Given the description of an element on the screen output the (x, y) to click on. 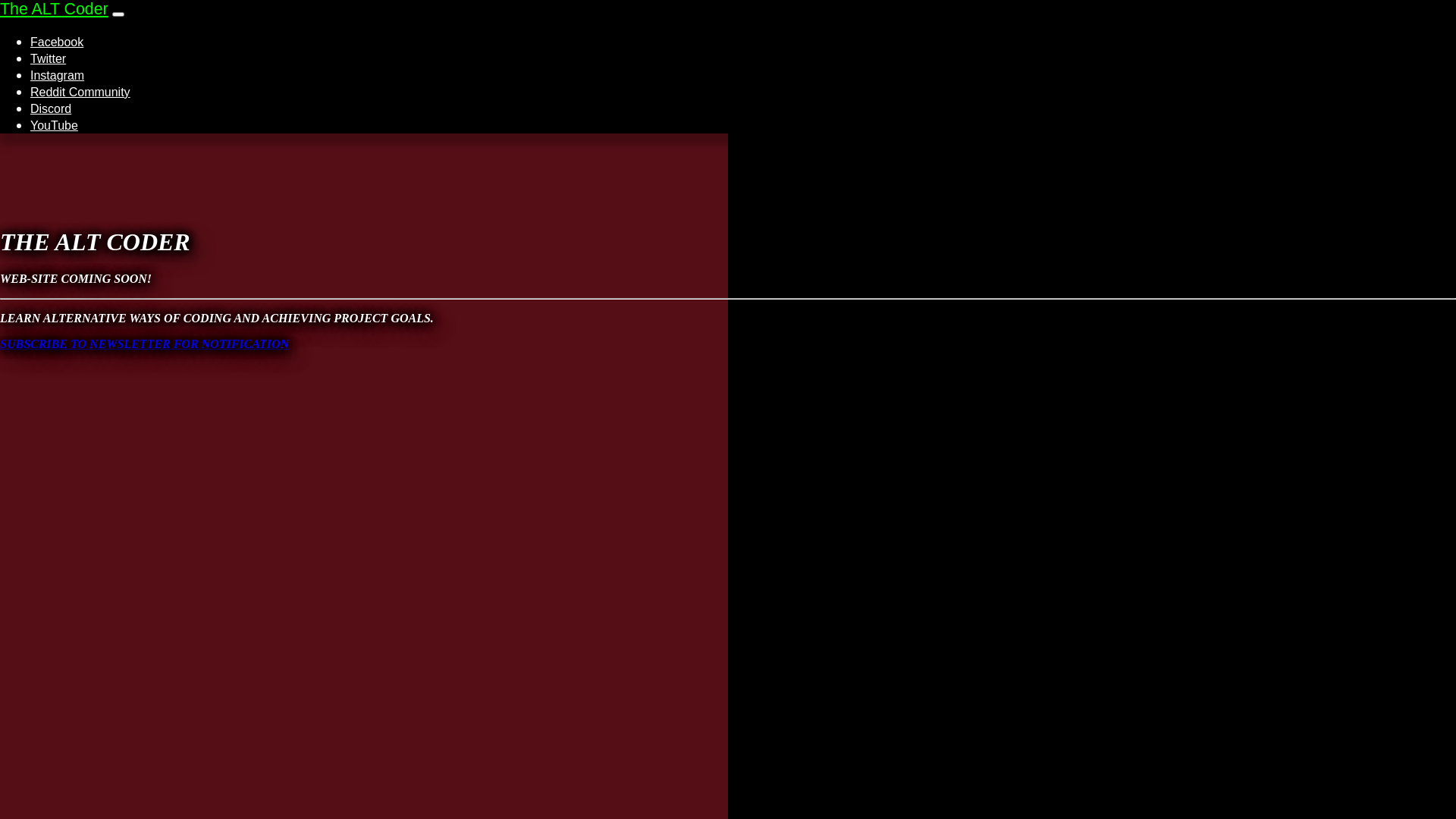
Discord Element type: text (50, 108)
Reddit Community Element type: text (80, 91)
Instagram Element type: text (57, 75)
SUBSCRIBE TO NEWSLETTER FOR NOTIFICATION Element type: text (144, 343)
Twitter Element type: text (47, 58)
YouTube Element type: text (54, 125)
The ALT Coder Element type: text (54, 9)
Facebook Element type: text (56, 41)
